Given the description of an element on the screen output the (x, y) to click on. 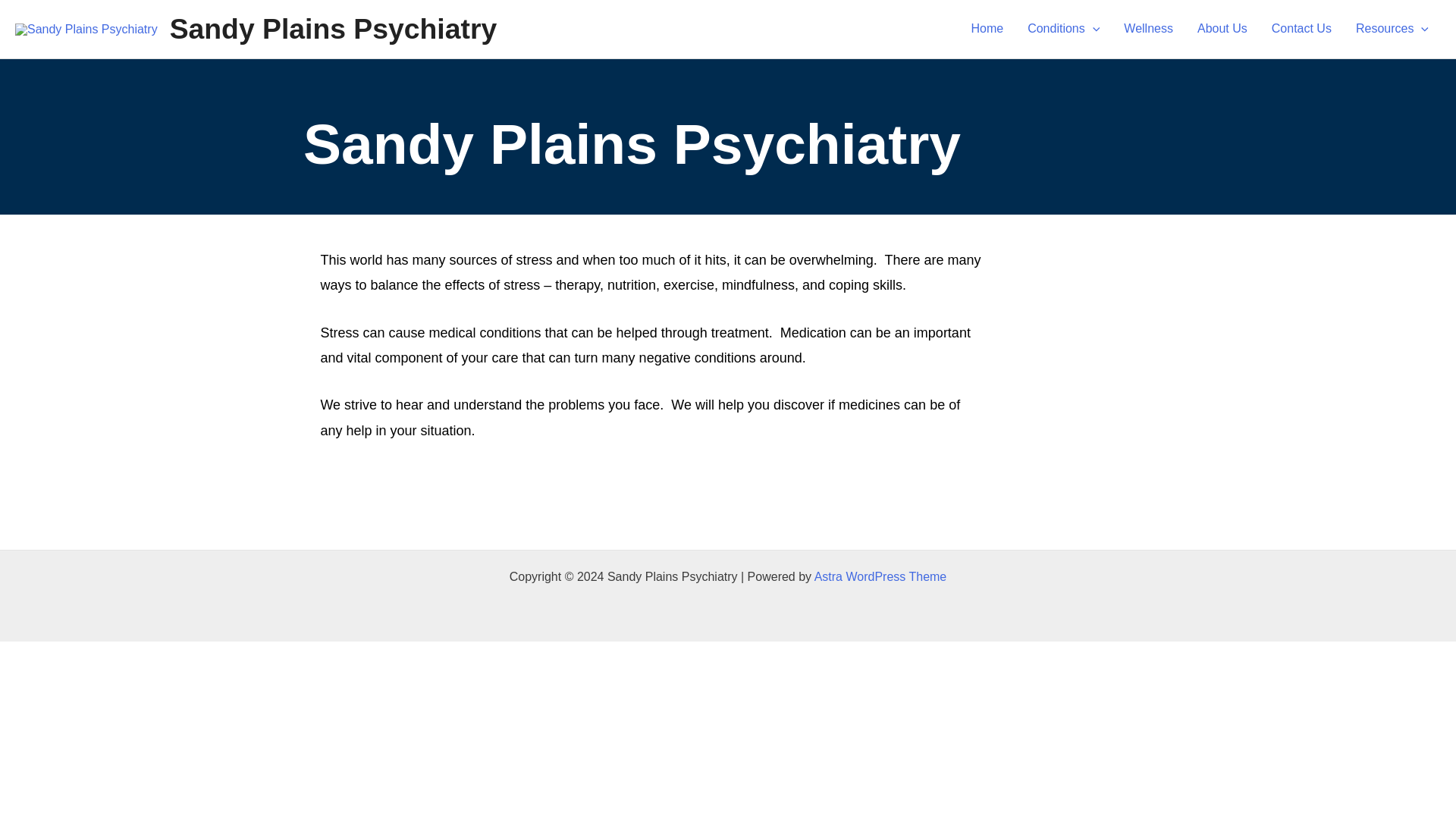
Resources (1392, 28)
Contact Us (1301, 28)
Home (986, 28)
About Us (1222, 28)
Wellness (1148, 28)
Conditions (1063, 28)
Sandy Plains Psychiatry (333, 29)
